Given the description of an element on the screen output the (x, y) to click on. 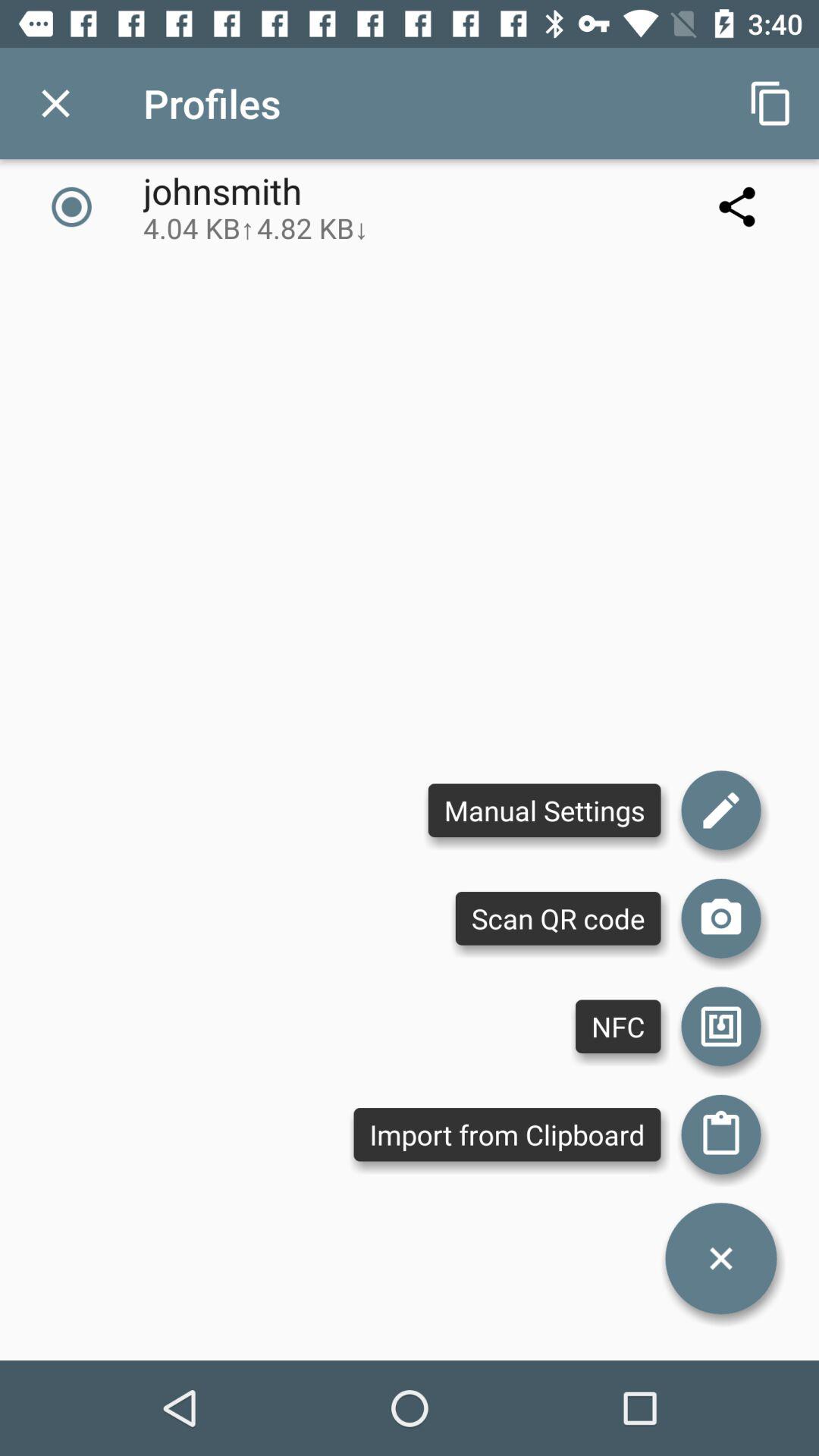
select the item next to johnsmith 4 04 item (771, 103)
